Given the description of an element on the screen output the (x, y) to click on. 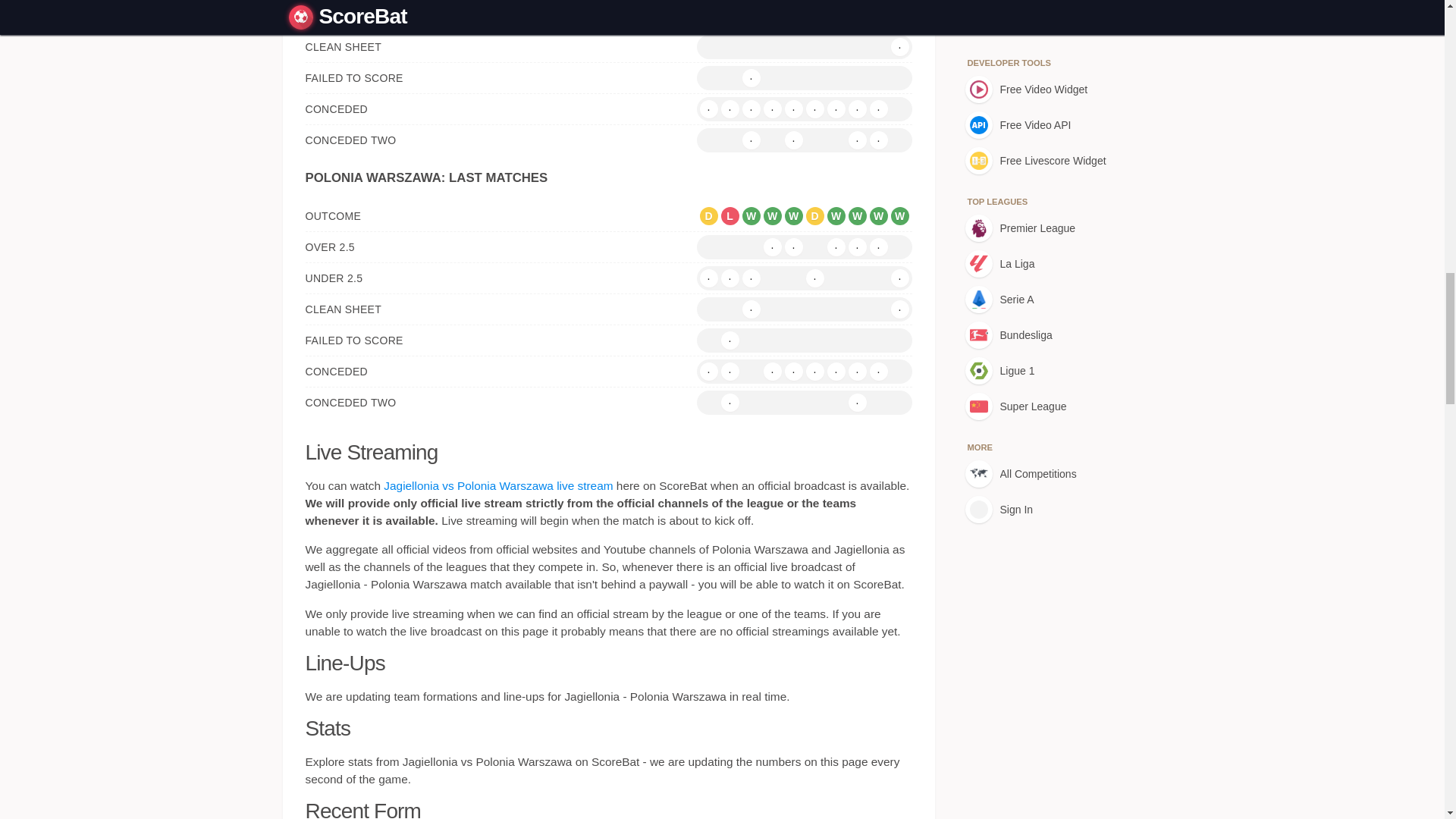
Jagiellonia vs Polonia Warszawa live stream (498, 485)
